Given the description of an element on the screen output the (x, y) to click on. 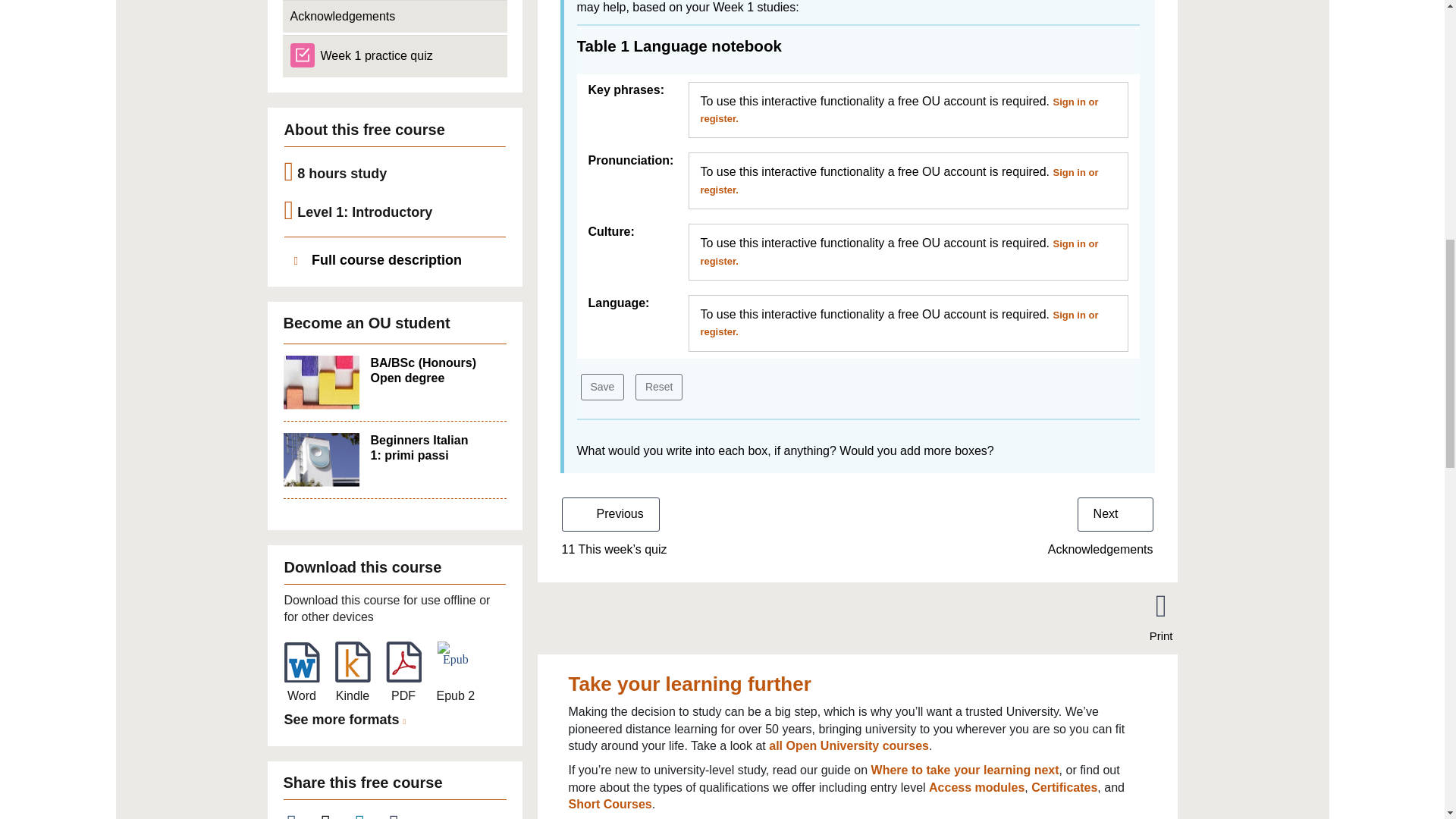
See more formats (347, 719)
Share via Email (403, 815)
Reset (658, 386)
Share on Twitter (334, 815)
Share on LinkedIn (368, 815)
Share on Facebook (299, 815)
Save (602, 386)
